Given the description of an element on the screen output the (x, y) to click on. 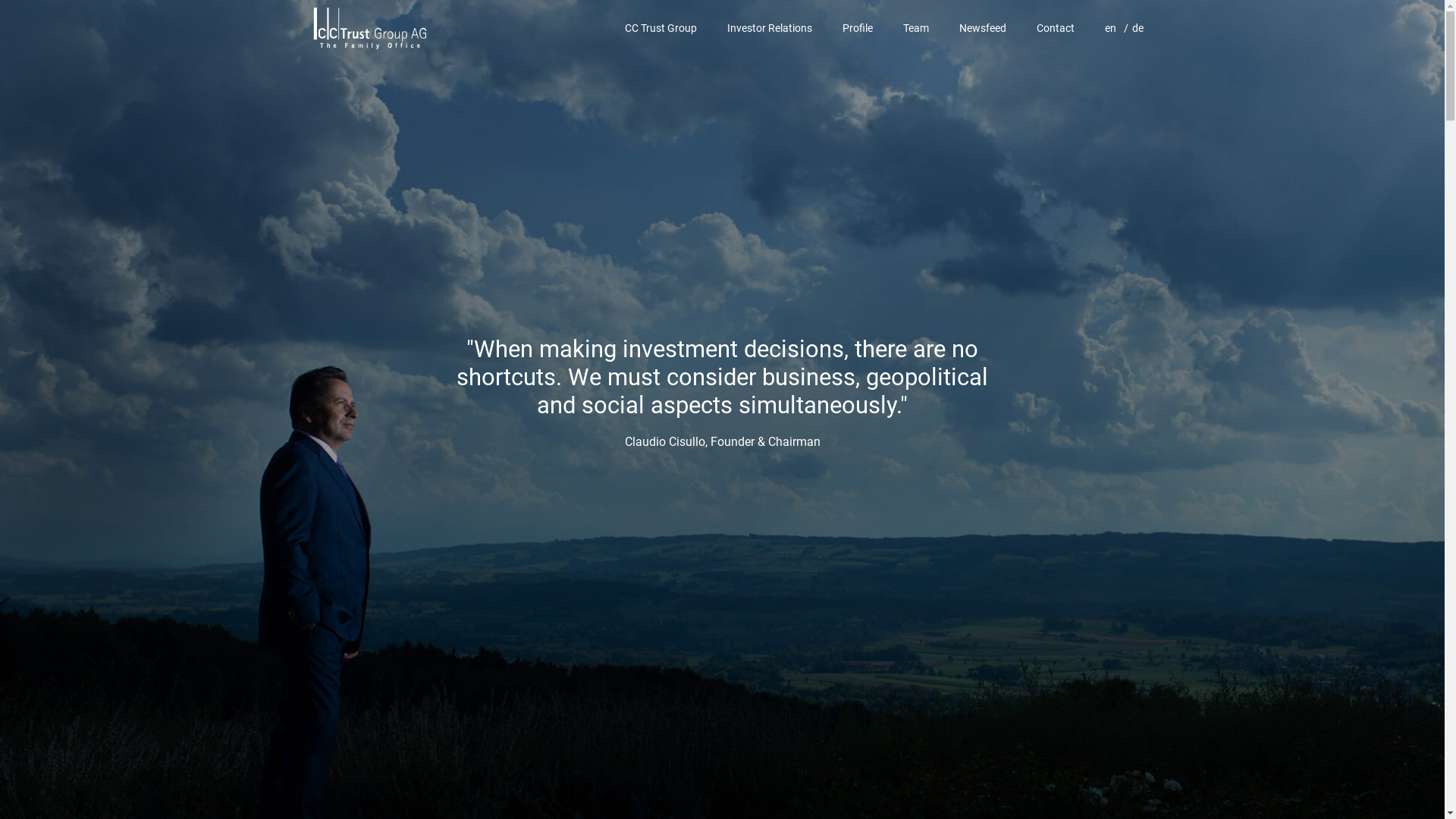
Team Element type: text (915, 28)
Profile Element type: text (857, 28)
CC Trust Group Element type: text (659, 28)
Newsfeed Element type: text (982, 28)
Contact Element type: text (1055, 28)
en Element type: text (1104, 28)
Investor Relations Element type: text (769, 28)
de Element type: text (1129, 28)
CC Trust Group Element type: hover (369, 27)
